Given the description of an element on the screen output the (x, y) to click on. 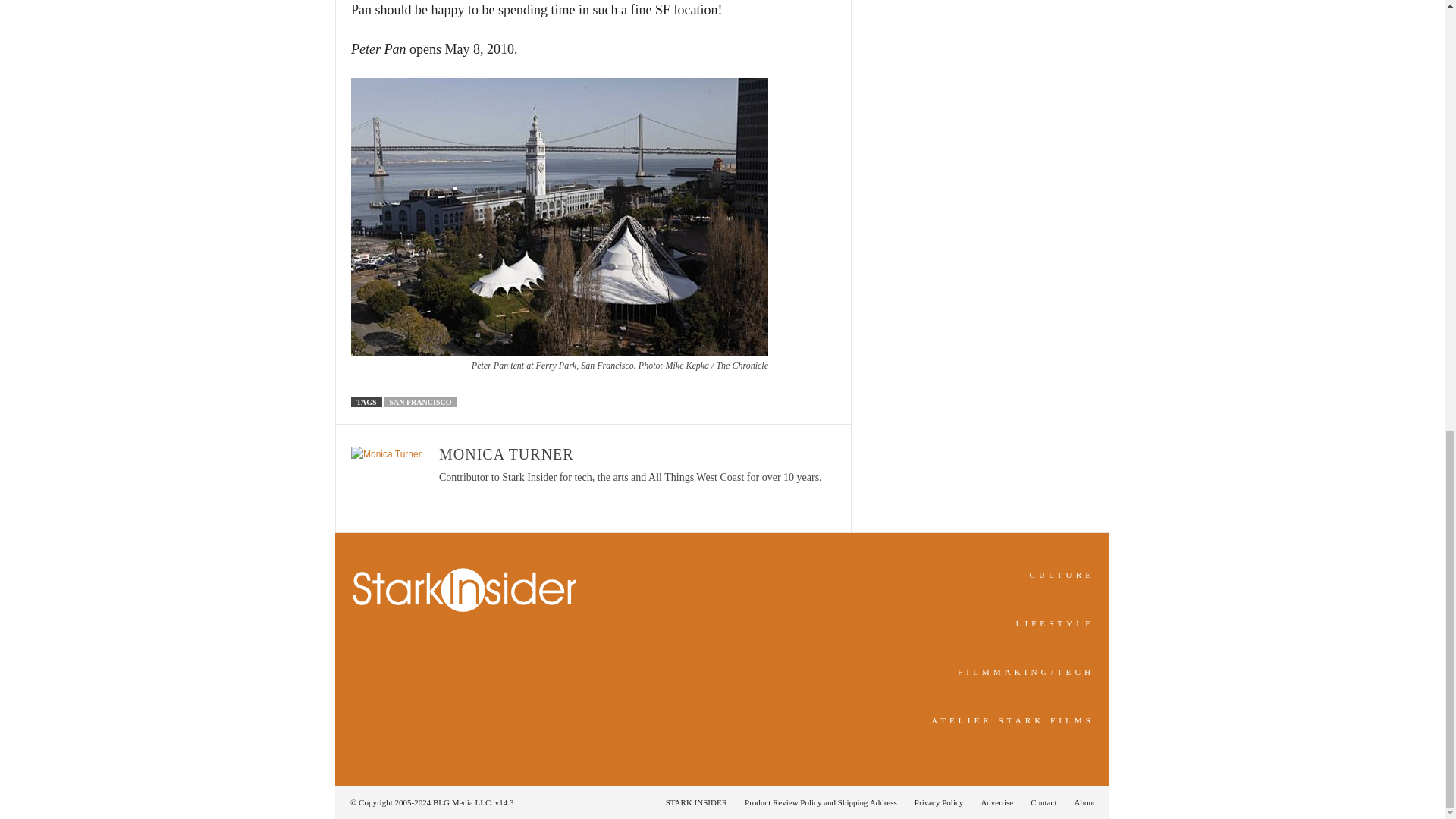
Contact (1043, 801)
Peter-Pan-Tent (559, 216)
MONICA TURNER (506, 453)
CULTURE (1061, 574)
Advertise (996, 801)
About (1079, 801)
ATELIER STARK FILMS (1012, 719)
SAN FRANCISCO (420, 402)
STARK INSIDER (696, 801)
Privacy Policy (939, 801)
